Given the description of an element on the screen output the (x, y) to click on. 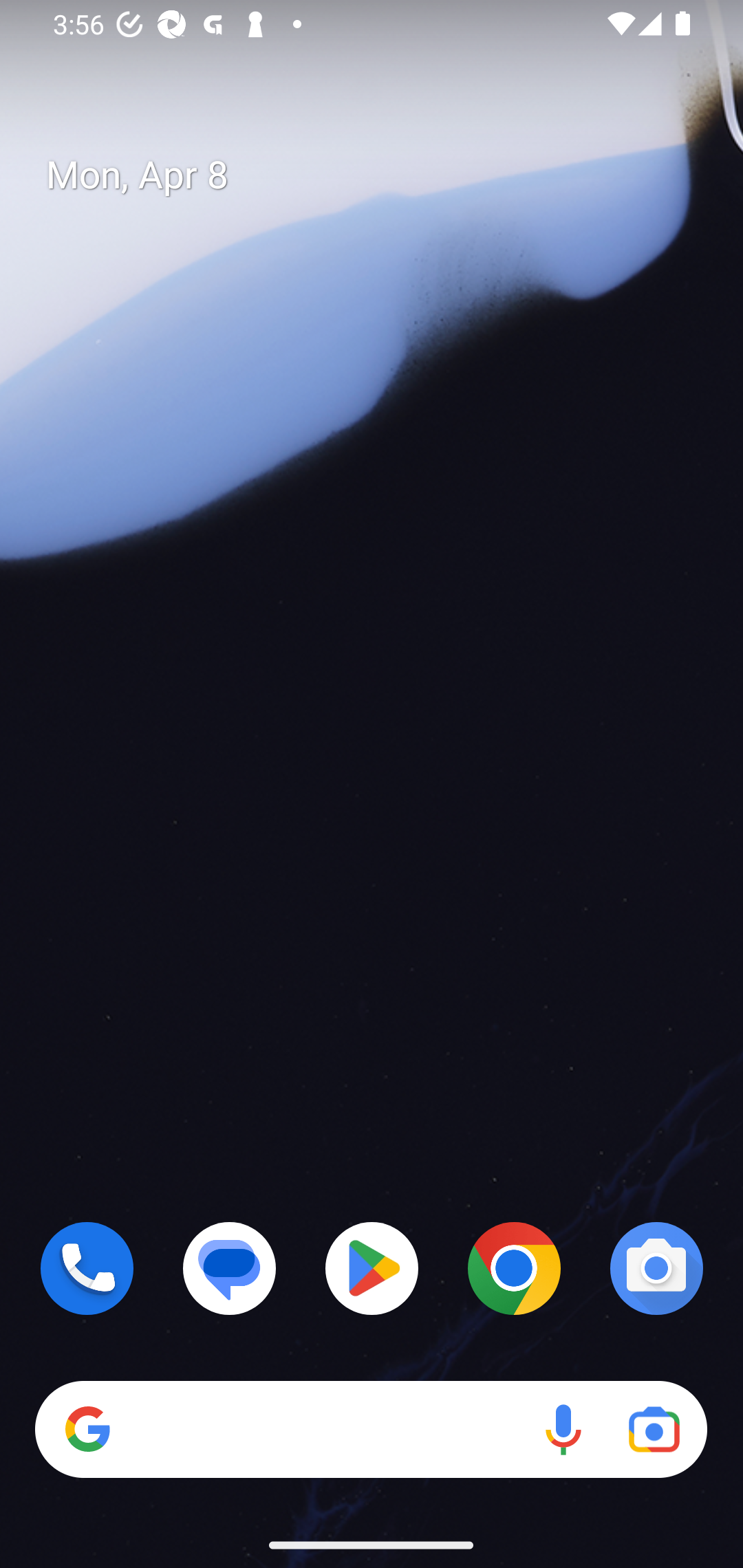
Mon, Apr 8 (386, 175)
Phone (86, 1268)
Messages (229, 1268)
Play Store (371, 1268)
Chrome (513, 1268)
Camera (656, 1268)
Search Voice search Google Lens (370, 1429)
Voice search (562, 1429)
Google Lens (653, 1429)
